Given the description of an element on the screen output the (x, y) to click on. 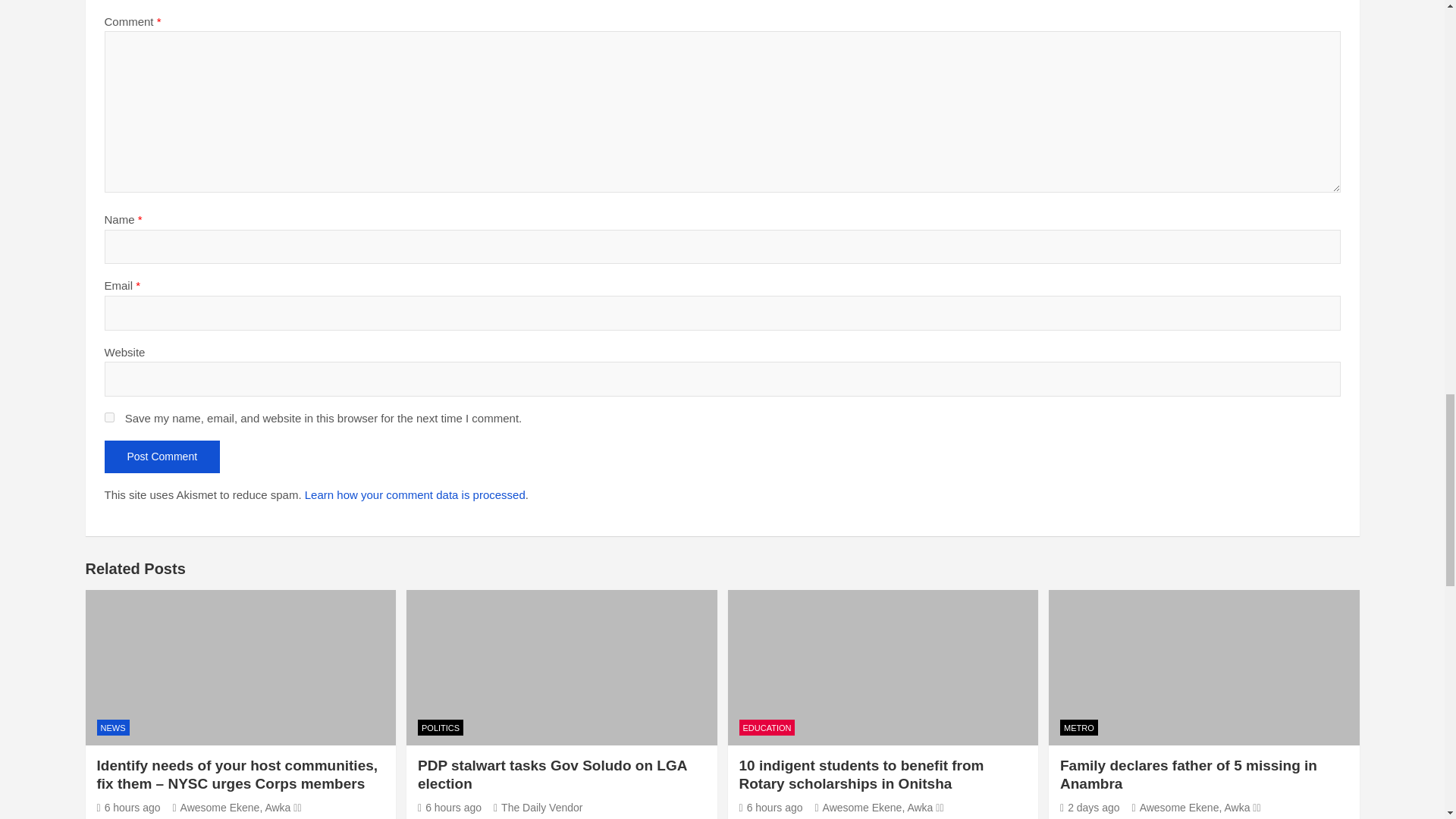
Family declares father of 5 missing in Anambra (1089, 807)
yes (109, 417)
Post Comment (162, 457)
PDP stalwart tasks Gov Soludo on LGA election (449, 807)
